Given the description of an element on the screen output the (x, y) to click on. 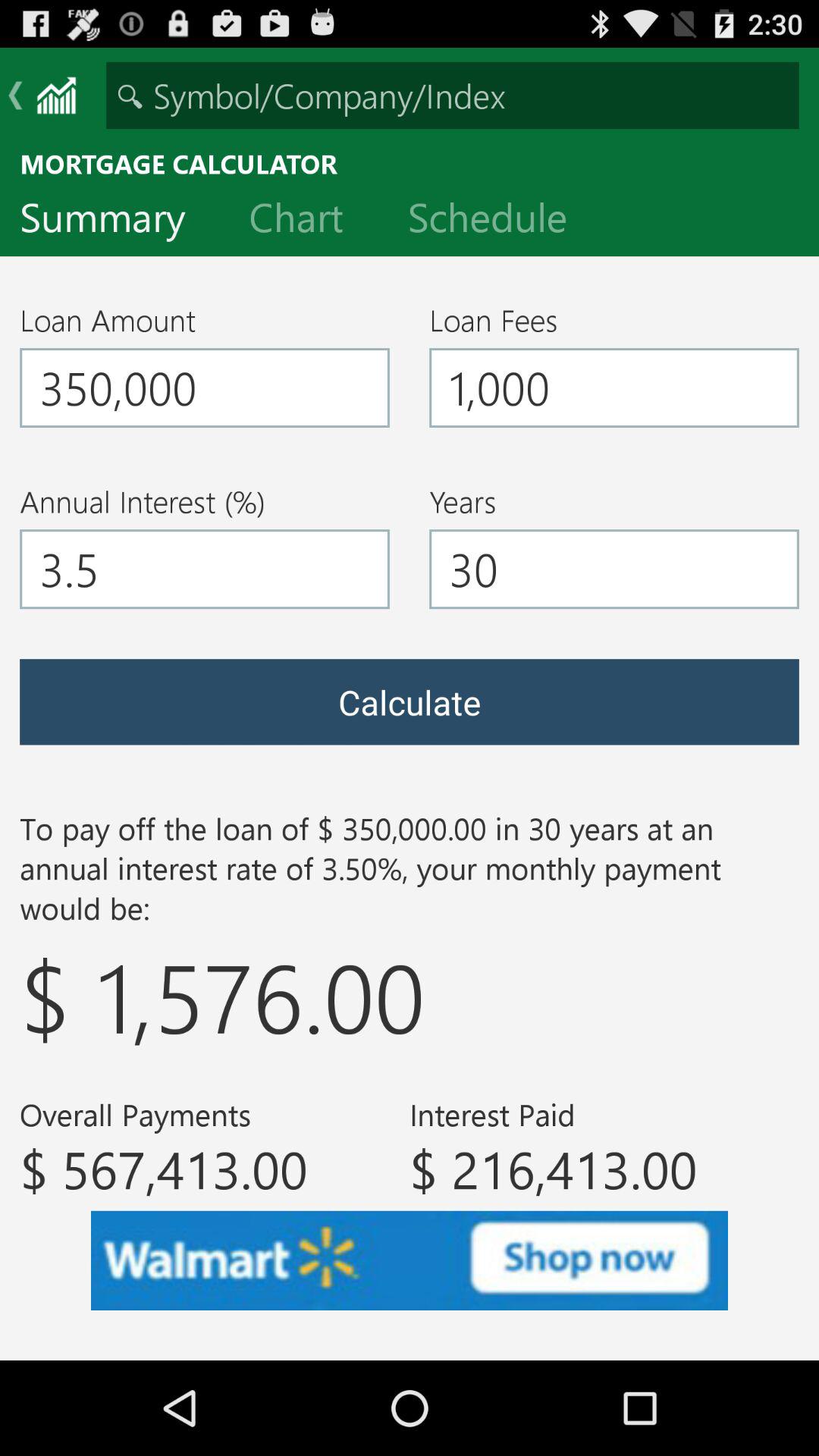
turn on the item below the mortgage calculator (308, 220)
